Given the description of an element on the screen output the (x, y) to click on. 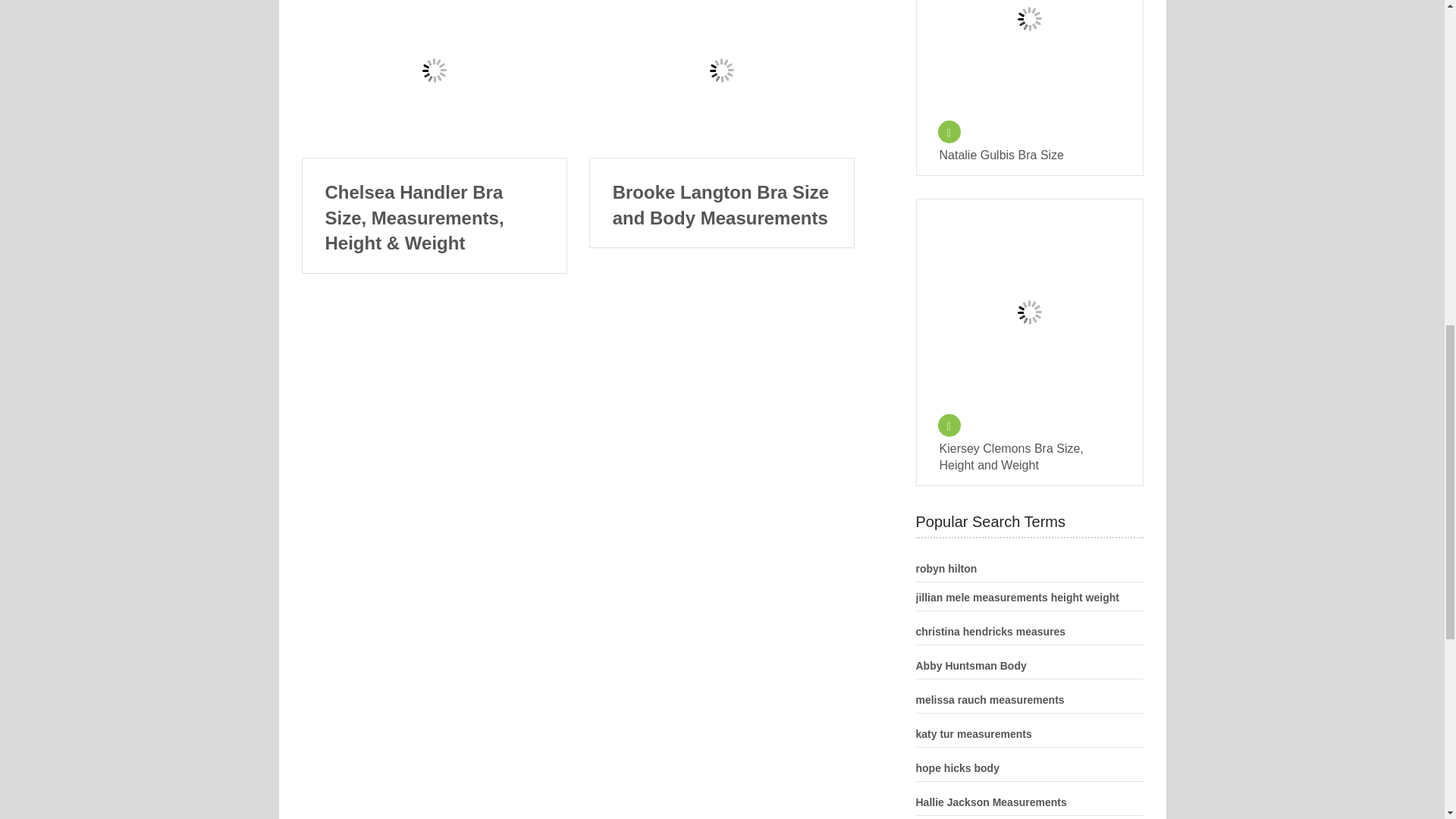
Brooke Langton Bra Size and Body Measurements (721, 79)
jillian mele measurements height weight (1017, 597)
robyn hilton (945, 568)
melissa rauch measurements (989, 699)
christina hendricks measures (990, 631)
Brooke Langton Bra Size and Body Measurements (721, 204)
Brooke Langton Bra Size and Body Measurements (721, 204)
Abby Huntsman Body (970, 665)
Kiersey Clemons Bra Size, Height and Weight (1029, 457)
Natalie Gulbis Bra Size (1029, 155)
